Given the description of an element on the screen output the (x, y) to click on. 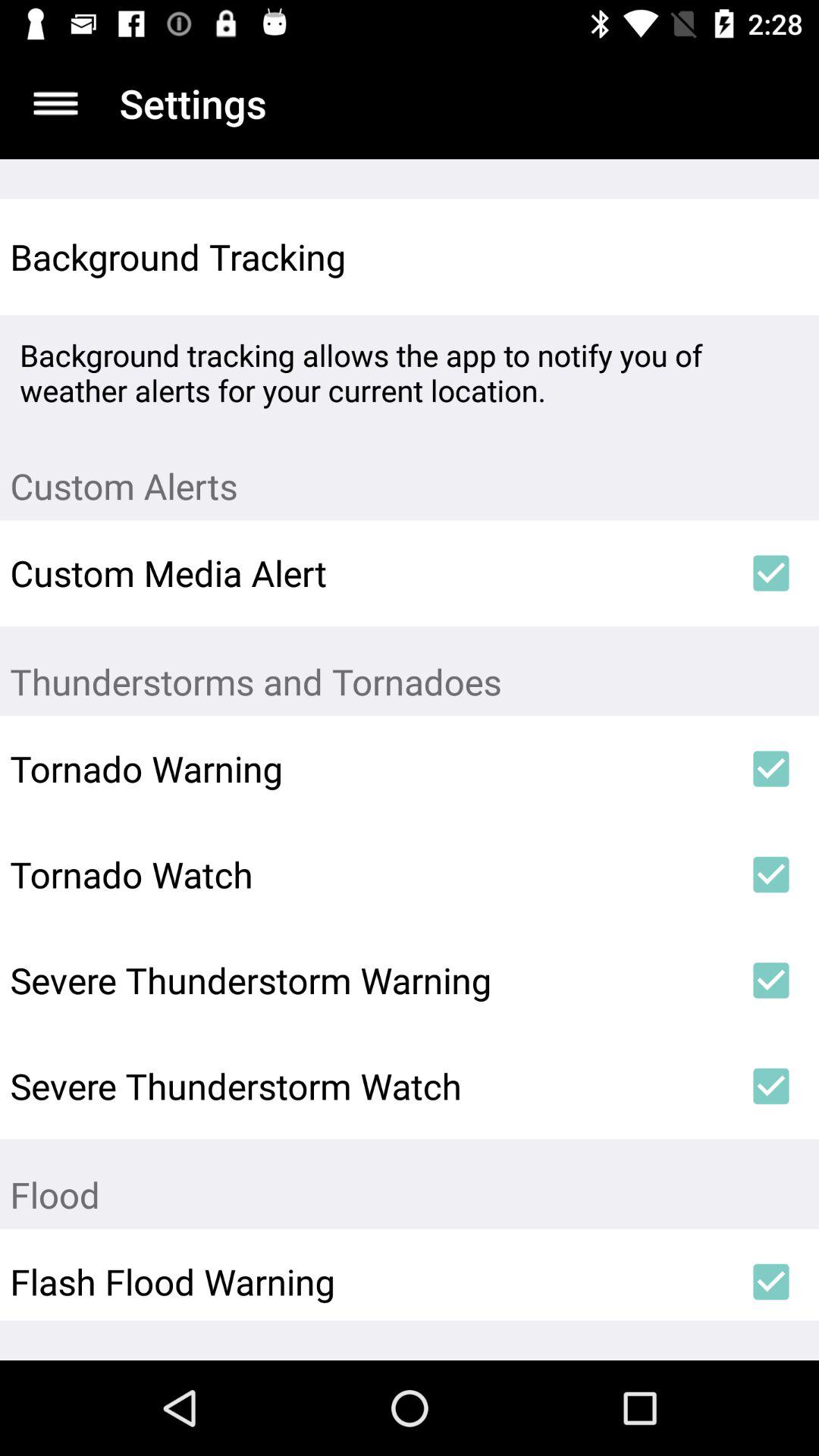
toggle menu option (55, 103)
